Given the description of an element on the screen output the (x, y) to click on. 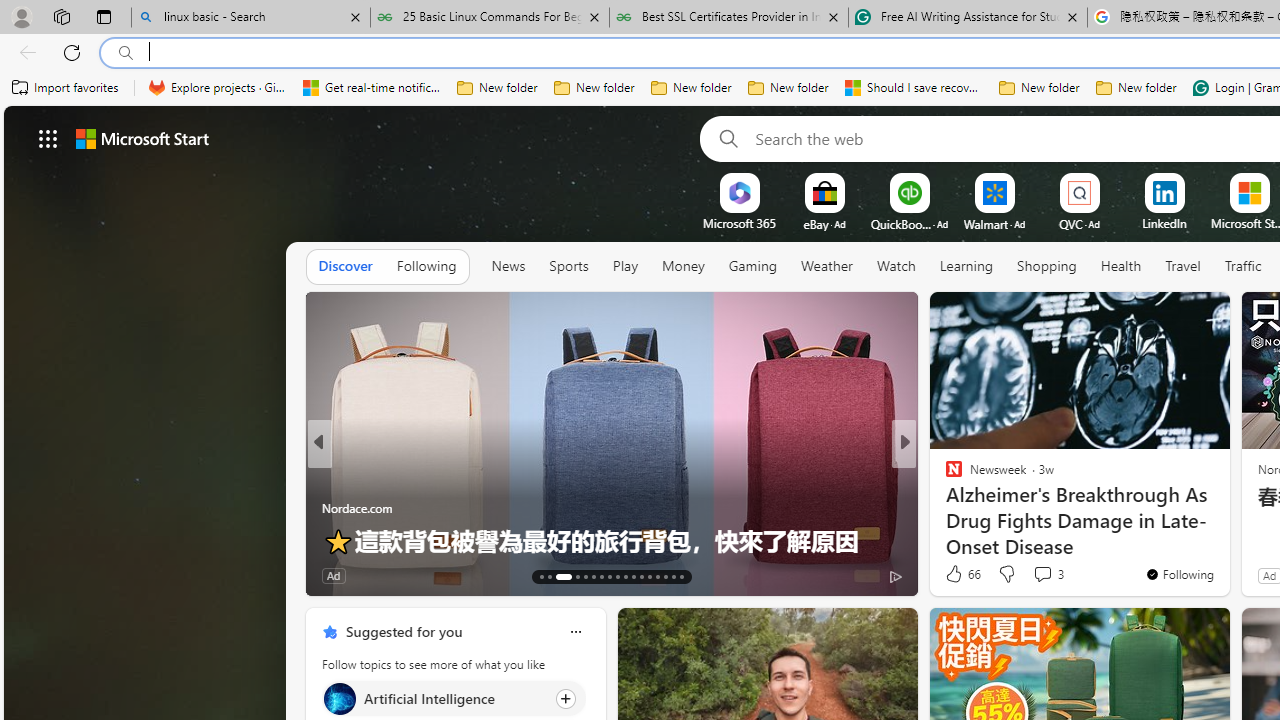
Weather (826, 267)
34 Like (956, 574)
AutomationID: tab-27 (664, 576)
Body Network (944, 475)
oceanbluemarine (982, 507)
AutomationID: tab-19 (600, 576)
Start the conversation (1036, 575)
Health (1121, 265)
7 Like (952, 574)
Food & Wine (944, 475)
Travel (1183, 265)
Gaming (752, 265)
Traffic (1243, 265)
